Given the description of an element on the screen output the (x, y) to click on. 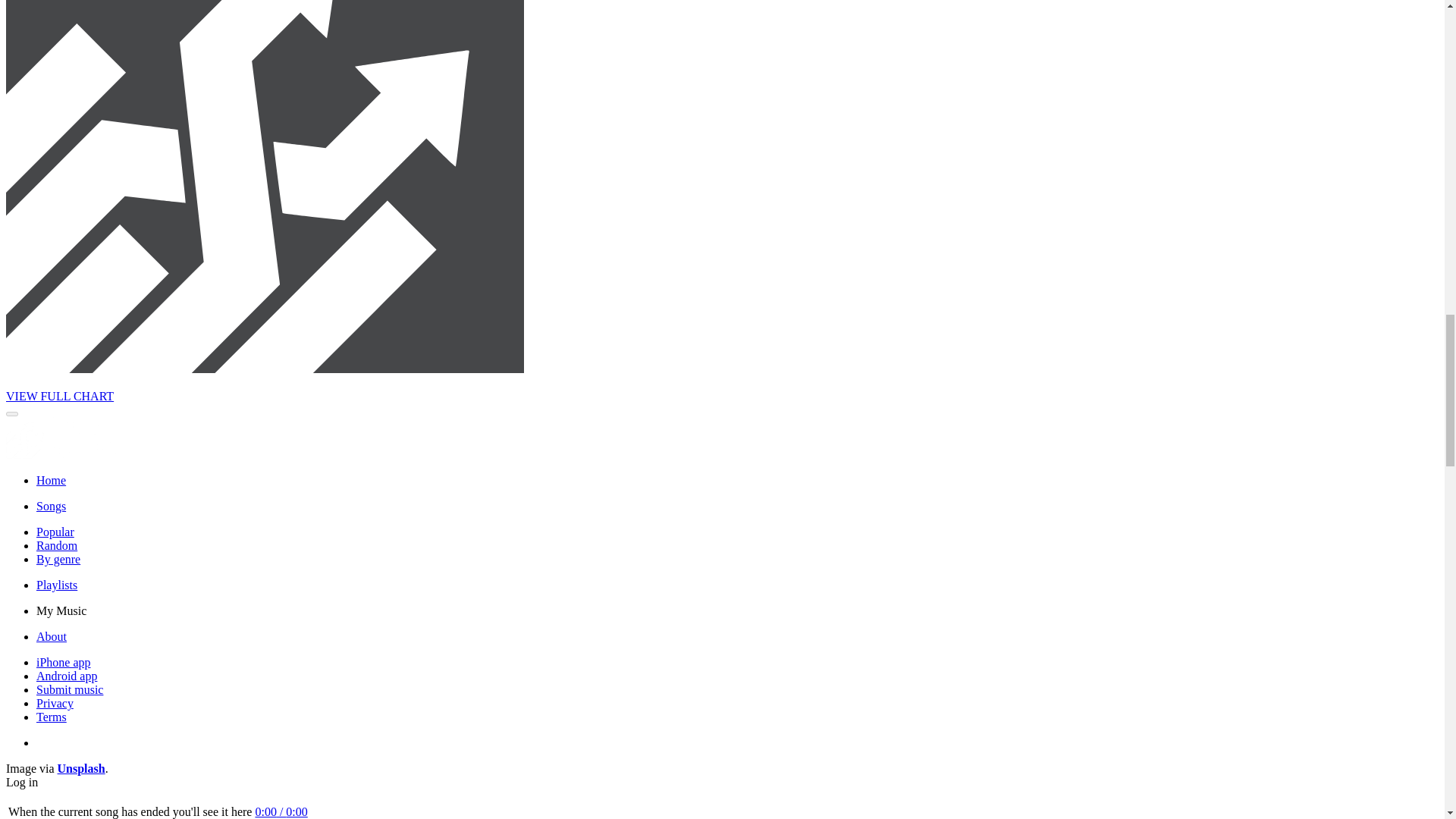
Download iPhone App (63, 662)
Submit music (69, 689)
Popular Songs (55, 531)
Songs (50, 505)
VIEW FULL CHART (59, 395)
Download Android App (66, 675)
About (51, 635)
Random Song (56, 545)
iPhone app (63, 662)
Android app (66, 675)
